Given the description of an element on the screen output the (x, y) to click on. 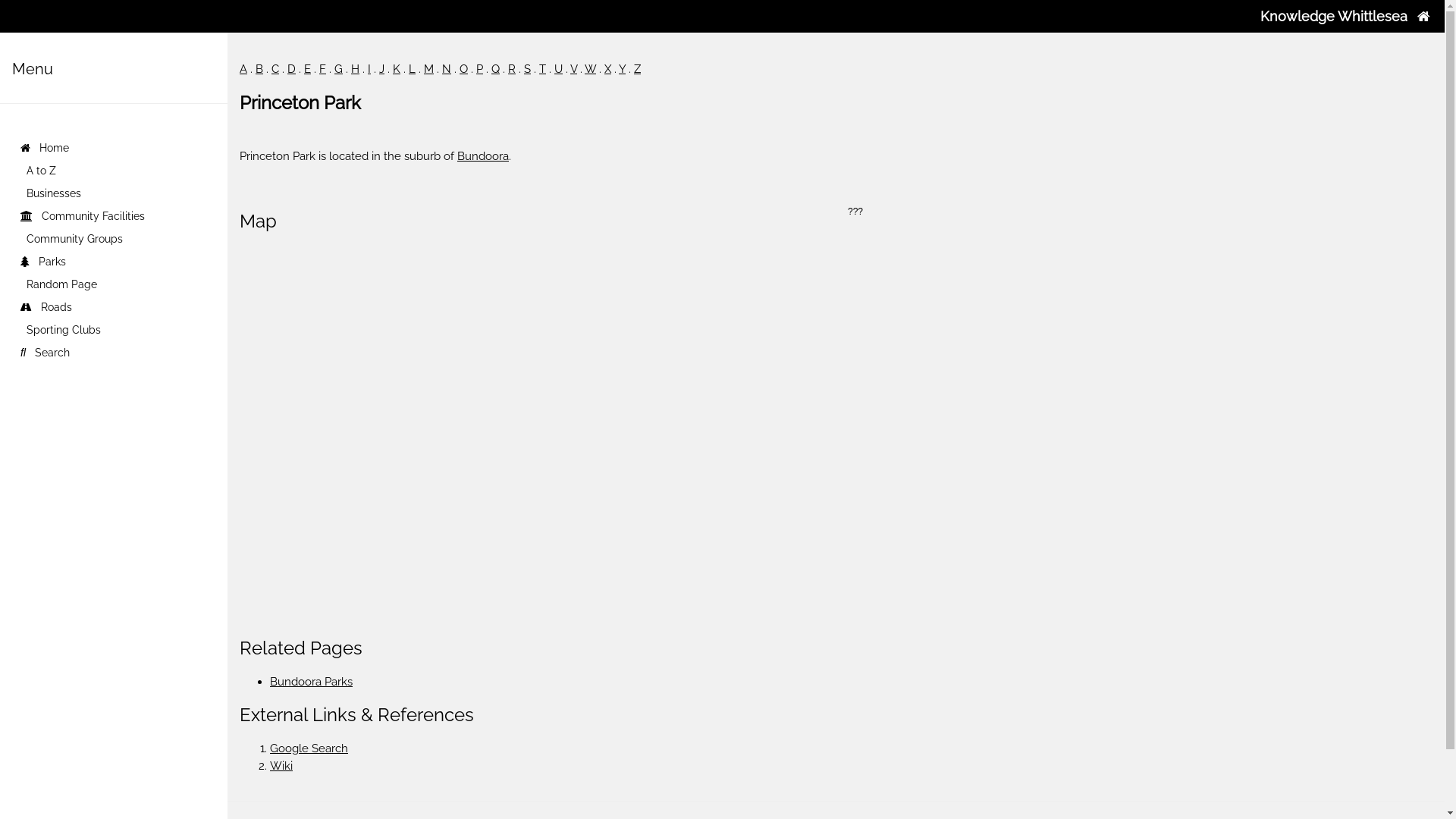
V Element type: text (573, 68)
P Element type: text (479, 68)
I Element type: text (368, 68)
W Element type: text (590, 68)
U Element type: text (558, 68)
Y Element type: text (621, 68)
B Element type: text (259, 68)
E Element type: text (307, 68)
Wiki Element type: text (280, 765)
Z Element type: text (636, 68)
C Element type: text (275, 68)
S Element type: text (527, 68)
F Element type: text (322, 68)
Google Search Element type: text (308, 748)
X Element type: text (607, 68)
M Element type: text (428, 68)
J Element type: text (381, 68)
H Element type: text (355, 68)
T Element type: text (542, 68)
Bundoora Element type: text (482, 156)
Q Element type: text (495, 68)
R Element type: text (511, 68)
N Element type: text (446, 68)
Bundoora Parks Element type: text (310, 681)
G Element type: text (338, 68)
A Element type: text (243, 68)
O Element type: text (463, 68)
K Element type: text (396, 68)
D Element type: text (291, 68)
L Element type: text (411, 68)
